Given the description of an element on the screen output the (x, y) to click on. 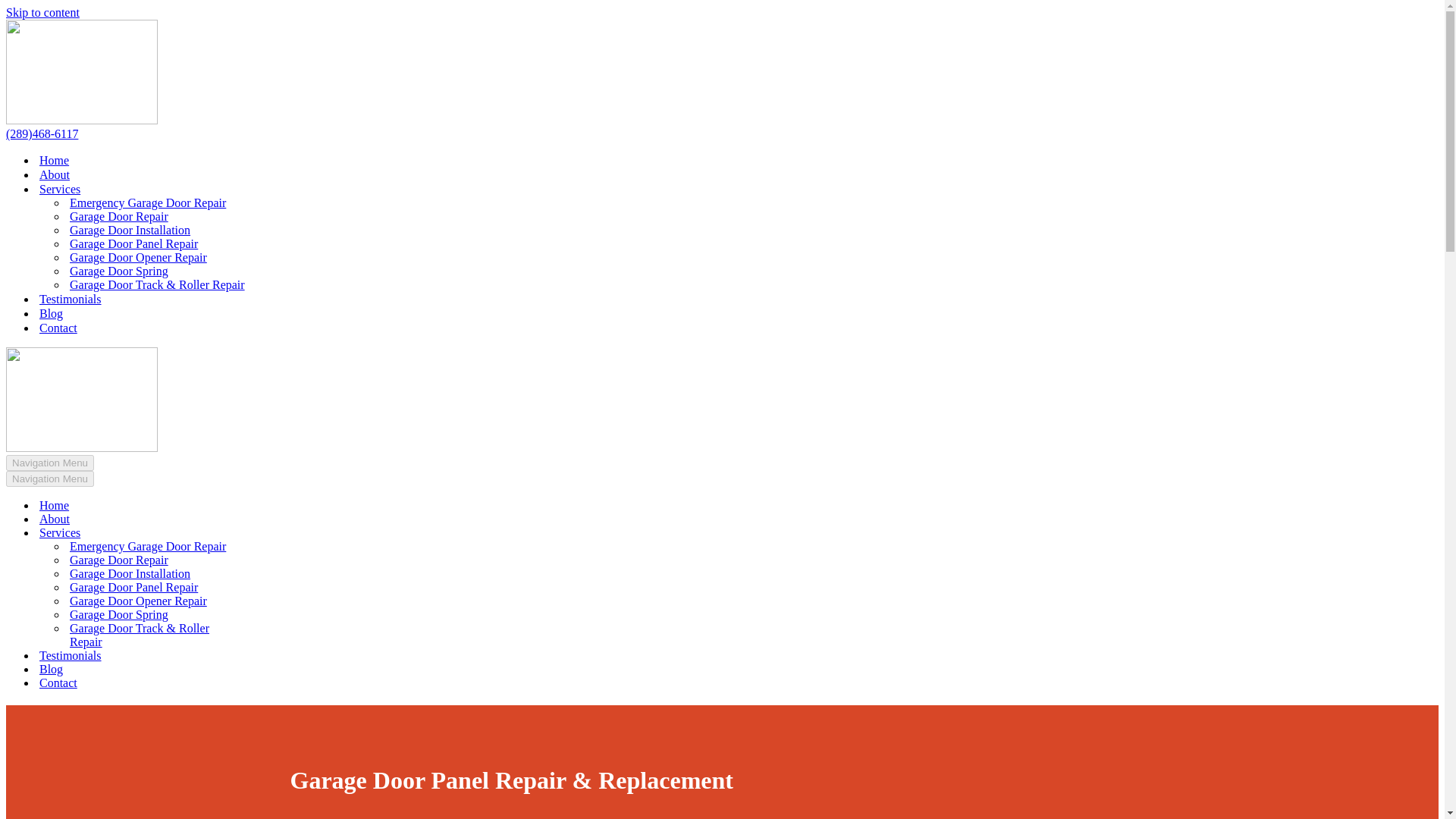
About (157, 519)
Blog (157, 669)
Blog (50, 313)
Garage Door Installation (172, 573)
About (54, 174)
Emergency Garage Door Repair (172, 546)
Garage Door Panel Repair (133, 243)
Garage Door Opener Repair (137, 257)
Garage Door Opener Repair (172, 601)
Garage Door Spring (172, 614)
Services (170, 532)
Services (59, 188)
Contact (157, 683)
Home (53, 160)
Emergency Garage Door Repair (147, 202)
